Given the description of an element on the screen output the (x, y) to click on. 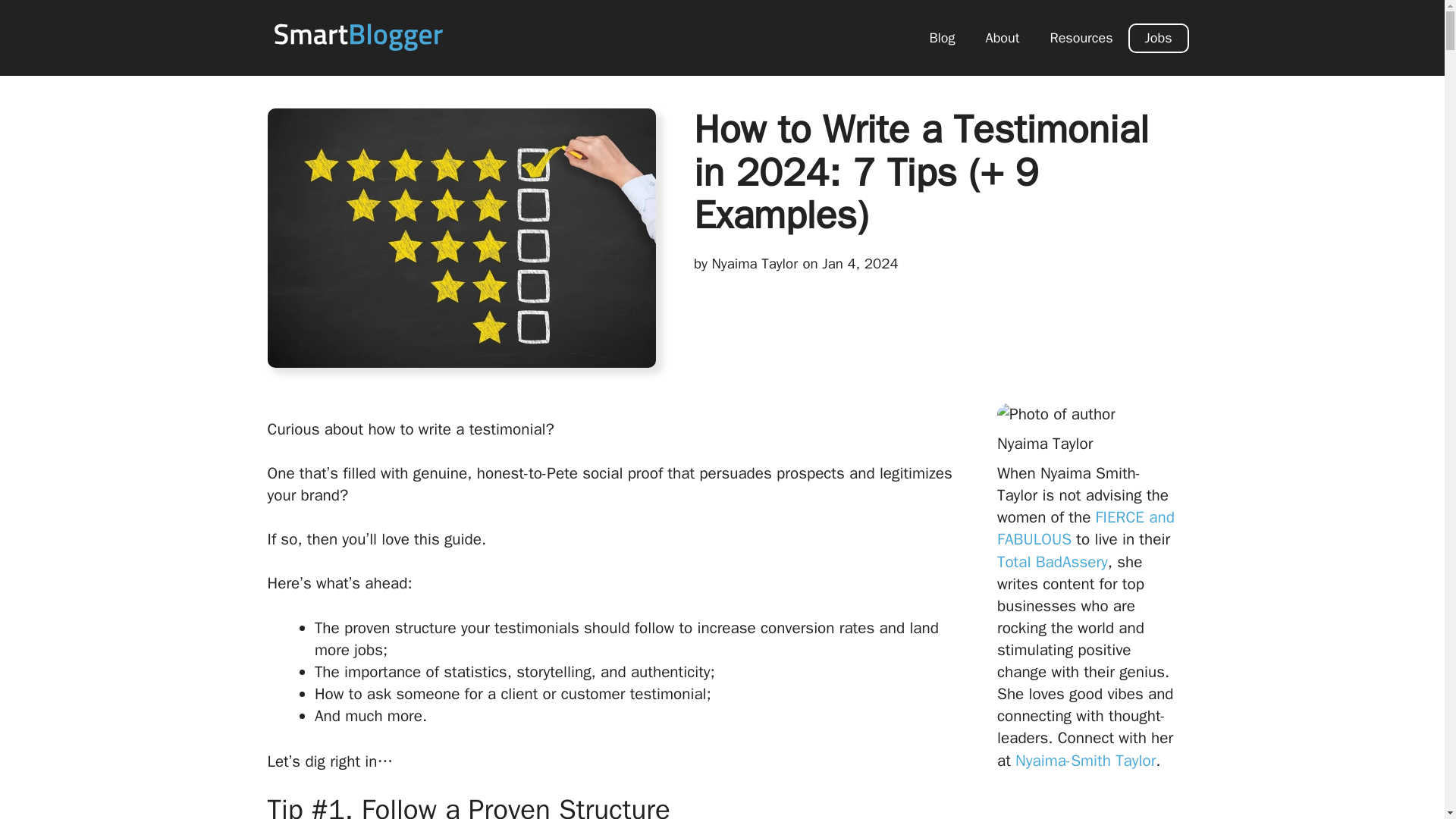
Jobs (1158, 37)
FIERCE and FABULOUS (1085, 527)
Blog (941, 37)
About (1003, 37)
Total BadAssery (1052, 561)
Resources (1079, 37)
Nyaima-Smith Taylor (1085, 760)
